Given the description of an element on the screen output the (x, y) to click on. 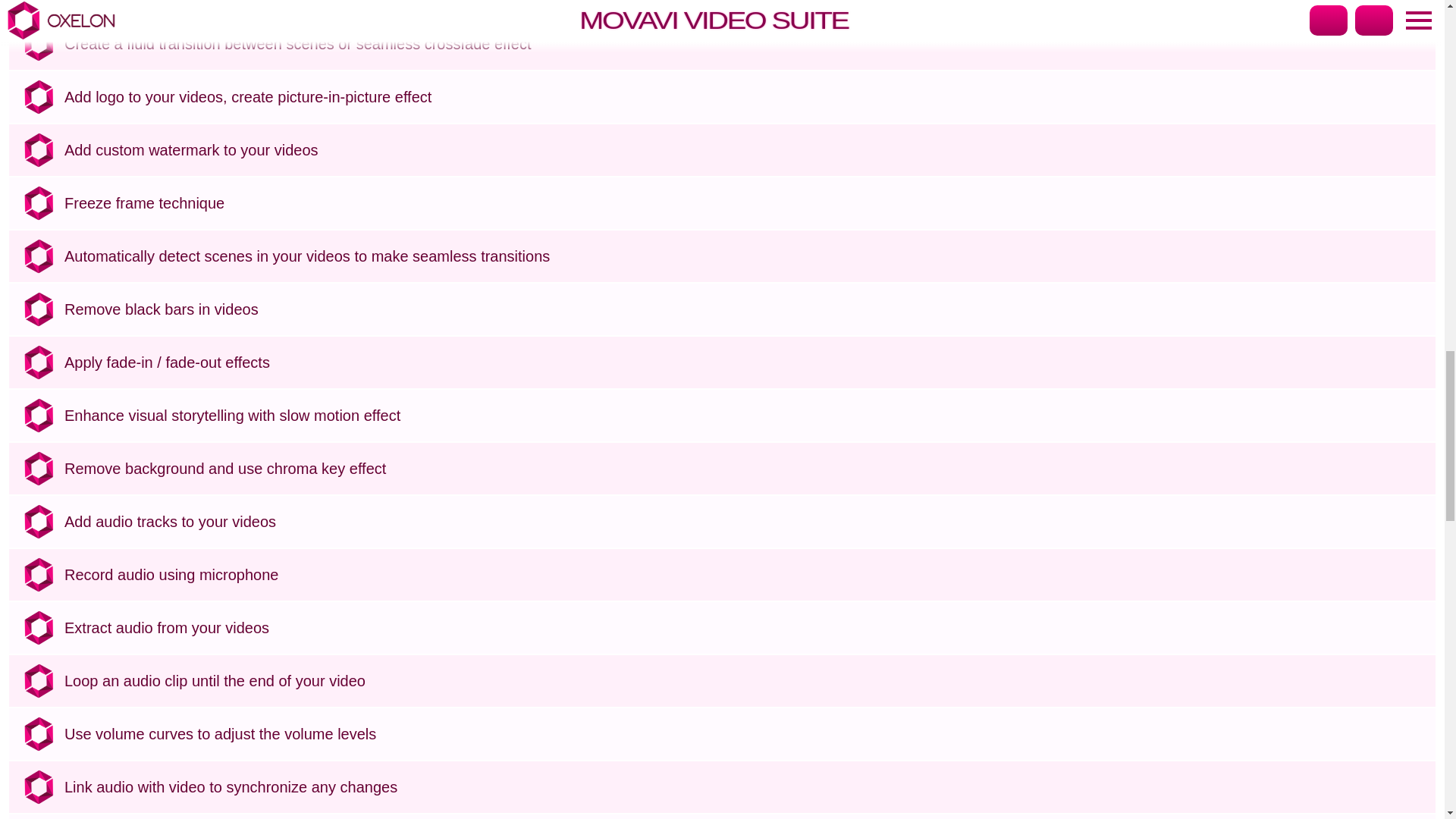
Add custom watermark to your videos (746, 149)
Extract audio from your videos (746, 627)
Record audio using microphone (746, 574)
Remove black bars in videos (746, 309)
Add audio tracks to your videos (746, 521)
Link audio with video to synchronize any changes (746, 787)
Add logo to your videos, create picture-in-picture effect (746, 96)
